Given the description of an element on the screen output the (x, y) to click on. 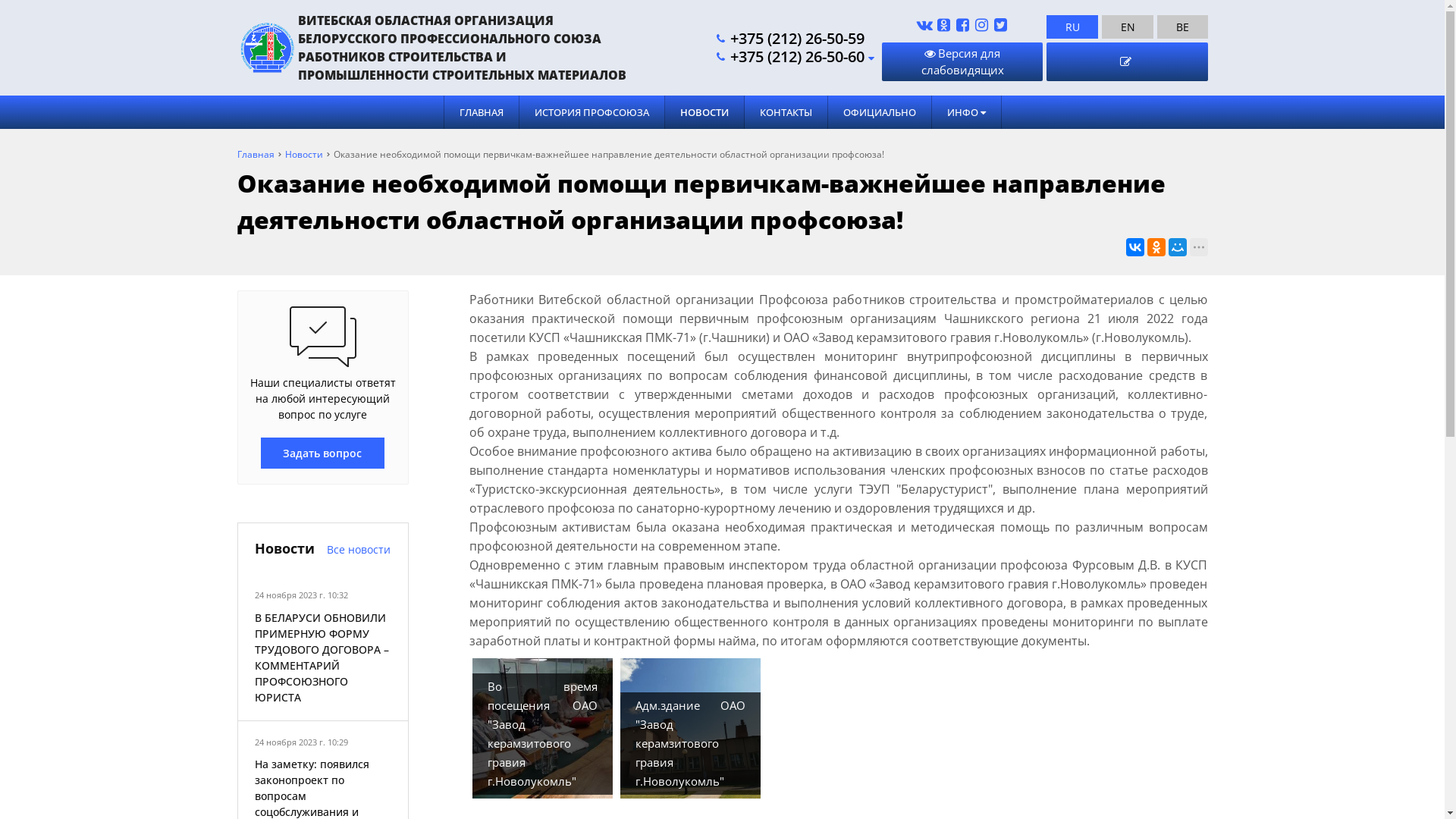
BE Element type: text (1182, 26)
+375 (212) 26-50-60 Element type: text (794, 56)
EN Element type: text (1127, 26)
+375 (212) 26-50-59 Element type: text (791, 38)
RU Element type: text (1072, 26)
